Given the description of an element on the screen output the (x, y) to click on. 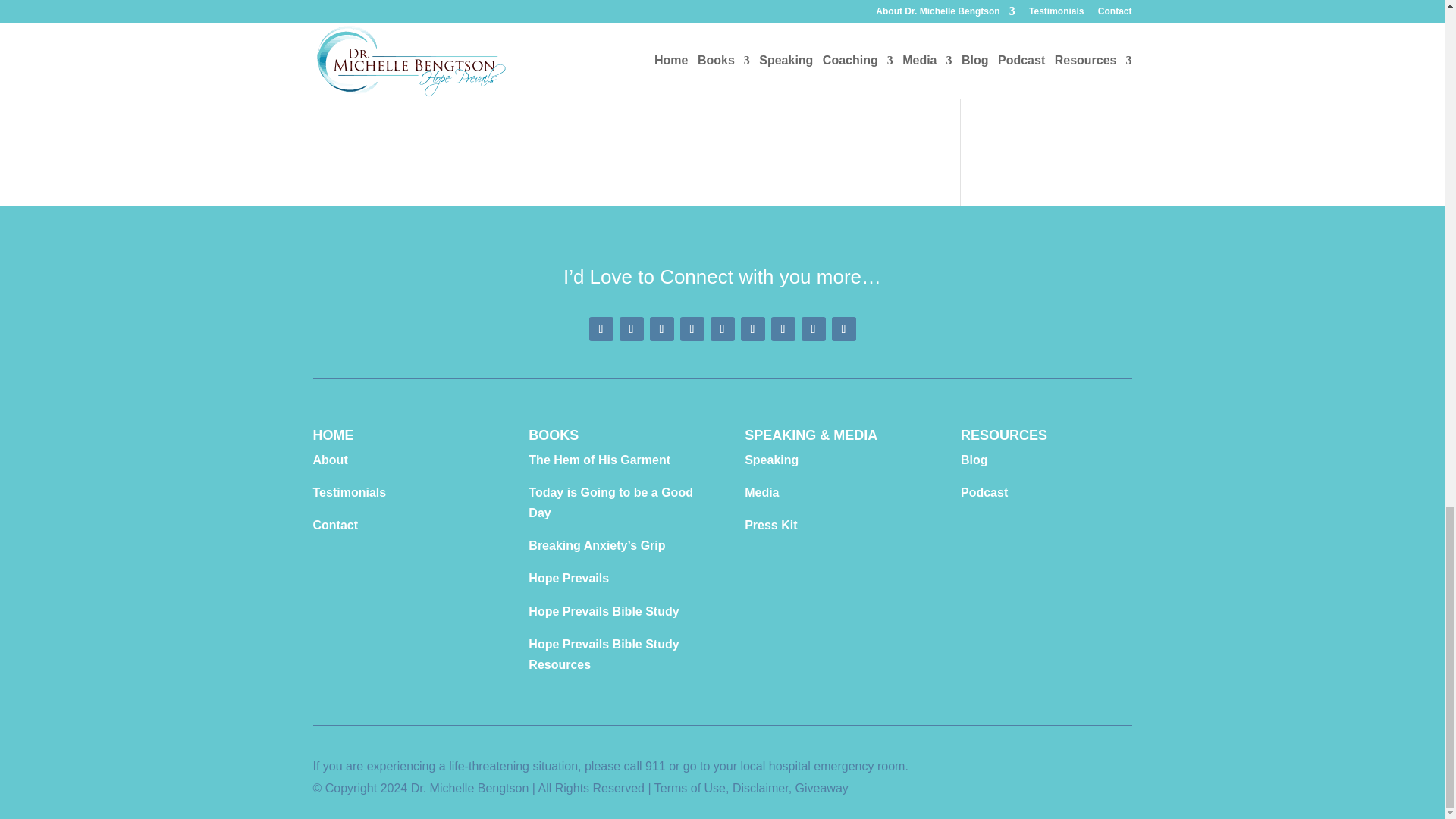
Follow on Facebook (600, 328)
Follow on Podcast (782, 328)
Follow on Youtube (691, 328)
Follow on LinkedIn (751, 328)
Follow on Pinterest (630, 328)
Follow on Twitter (721, 328)
Follow on Amazon (812, 328)
Follow on BookBub (843, 328)
Follow on Instagram (660, 328)
